Given the description of an element on the screen output the (x, y) to click on. 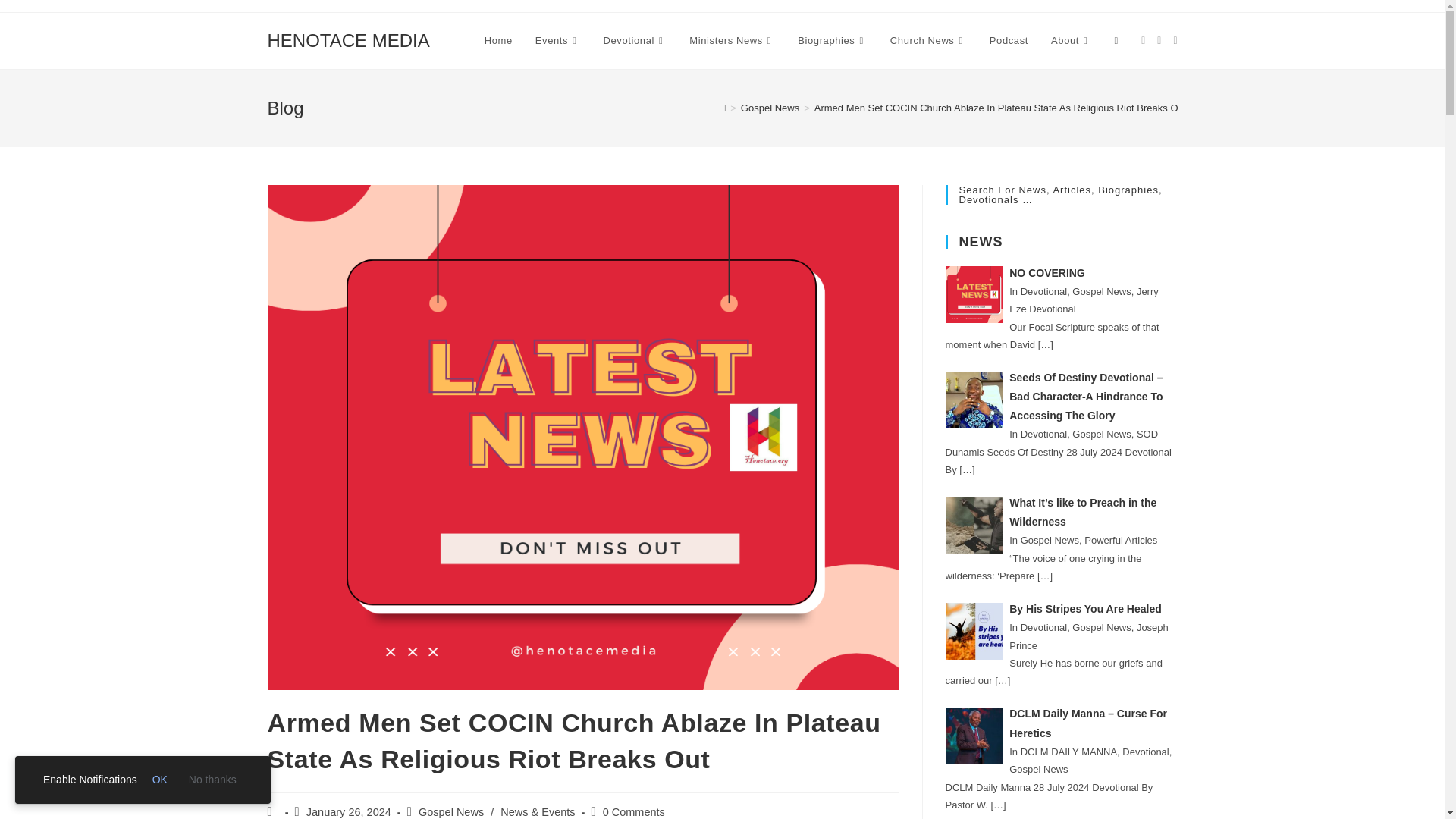
Events (558, 40)
HENOTACE MEDIA (347, 40)
Biographies (832, 40)
Devotional (635, 40)
Home (498, 40)
Ministers News (732, 40)
